Given the description of an element on the screen output the (x, y) to click on. 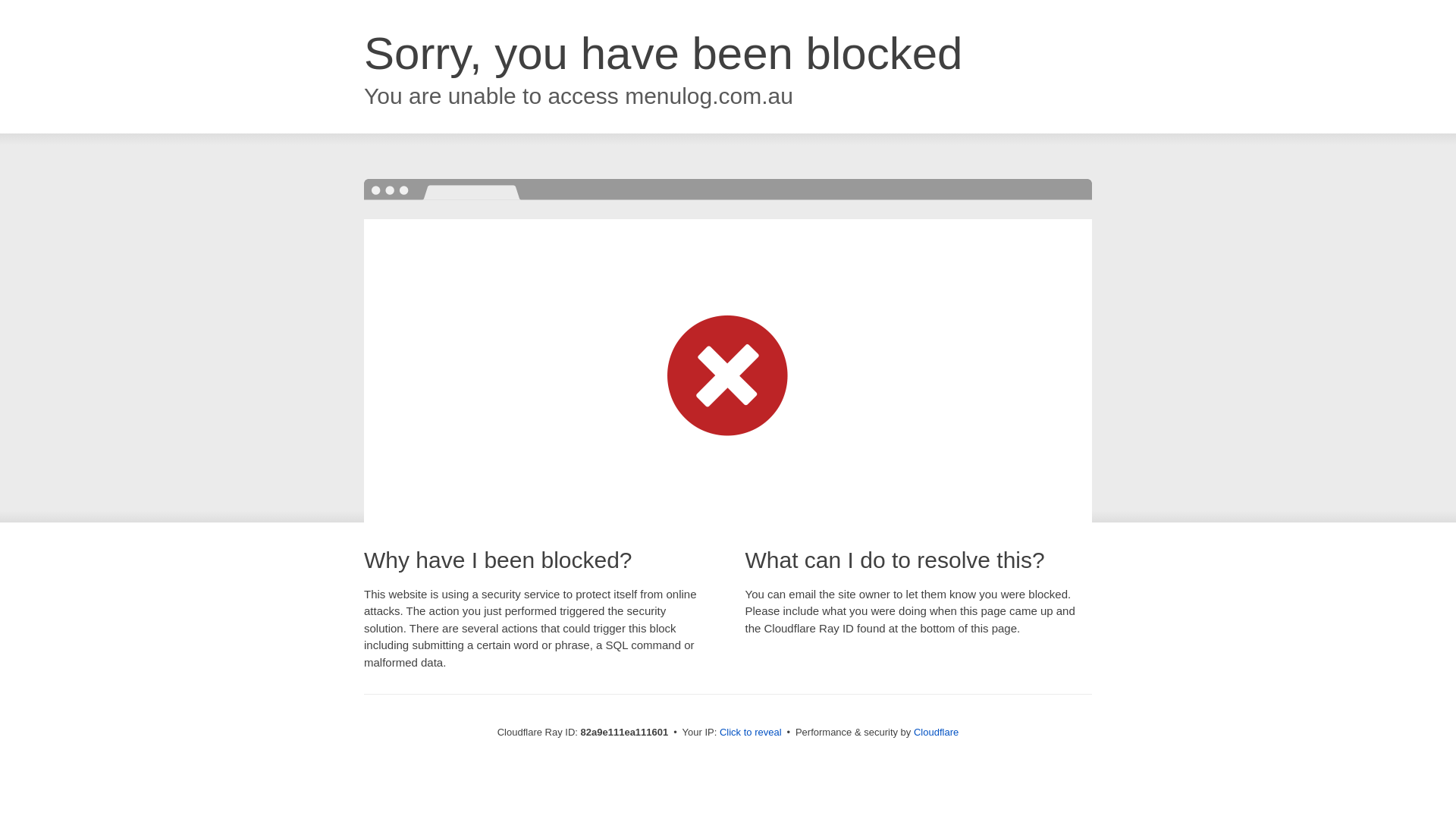
Cloudflare Element type: text (935, 731)
Click to reveal Element type: text (750, 732)
